Given the description of an element on the screen output the (x, y) to click on. 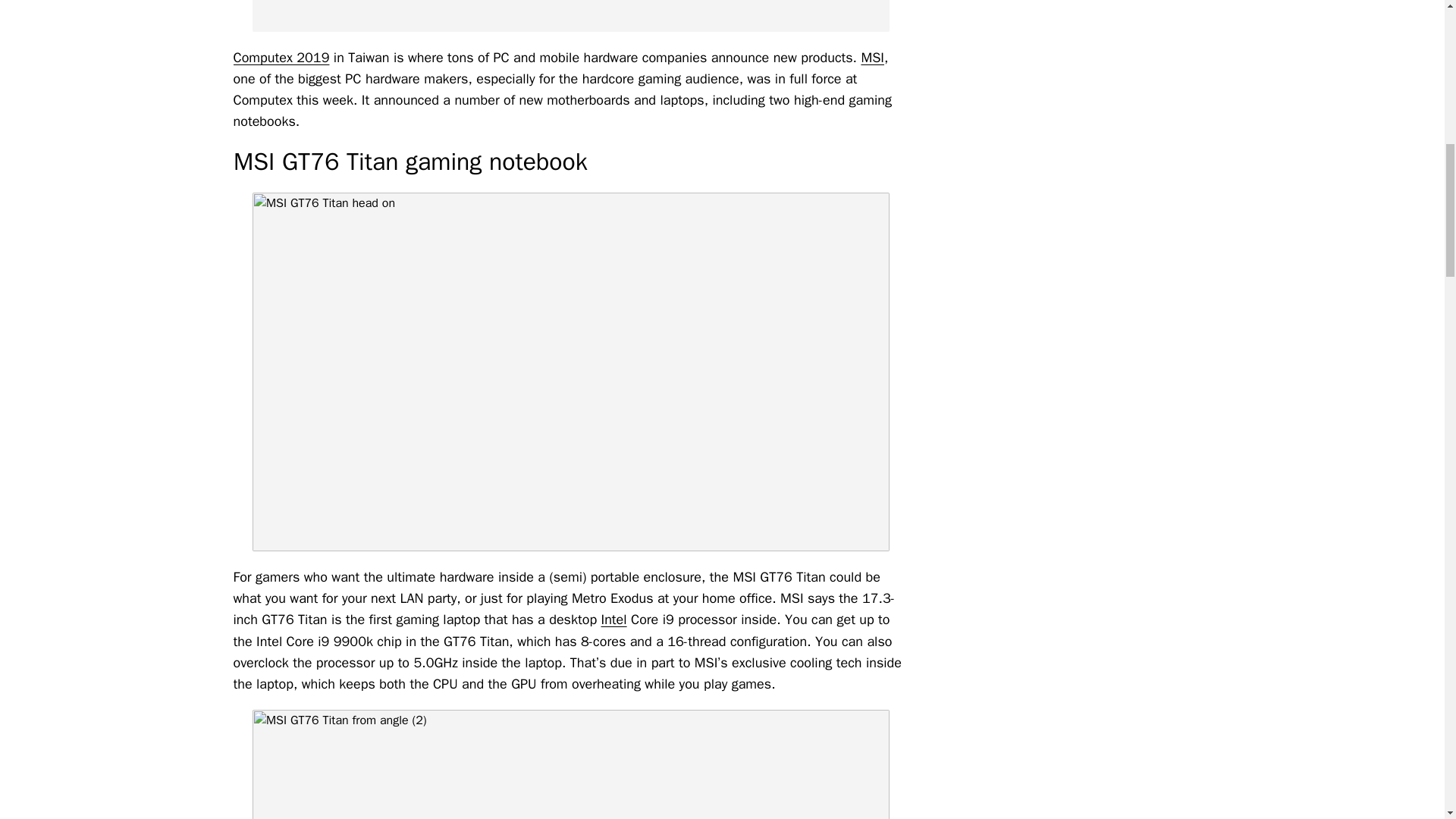
Computex 2019 (281, 57)
Intel (612, 619)
computex-2019 (569, 15)
MSI (871, 57)
